Given the description of an element on the screen output the (x, y) to click on. 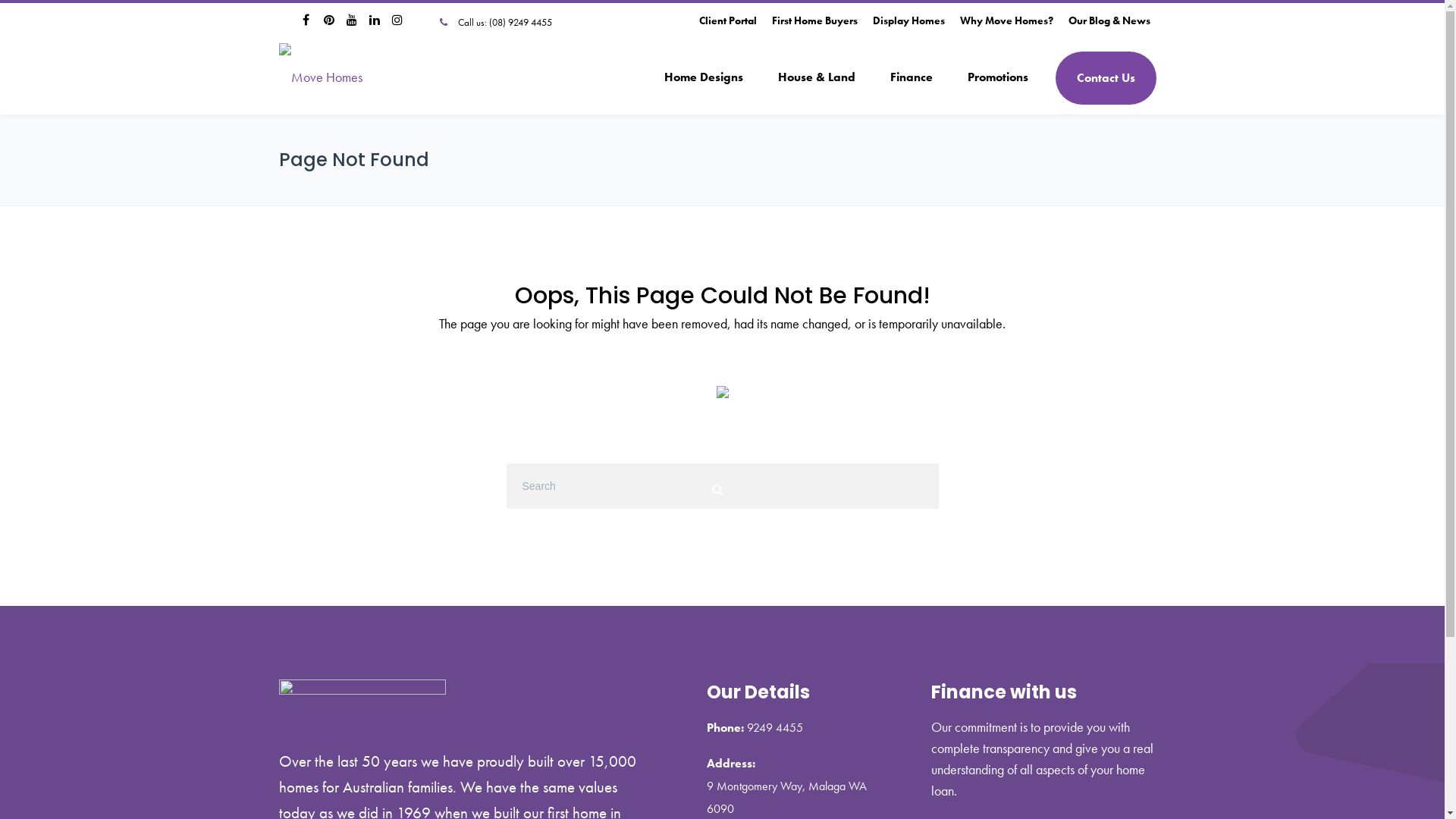
Move Homes Element type: hover (320, 77)
House & Land Element type: text (815, 77)
Promotions Element type: text (996, 77)
9249 4455 Element type: text (774, 727)
Home Designs Element type: text (702, 77)
First Home Buyers Element type: text (814, 20)
Contact Us Element type: text (1105, 77)
Finance Element type: text (910, 77)
Why Move Homes? Element type: text (1006, 20)
9 Montgomery Way, Malaga WA
6090 Element type: text (786, 797)
Client Portal Element type: text (727, 20)
Our Blog & News Element type: text (1108, 20)
(08) 9249 4455 Element type: text (519, 21)
Display Homes Element type: text (908, 20)
